Given the description of an element on the screen output the (x, y) to click on. 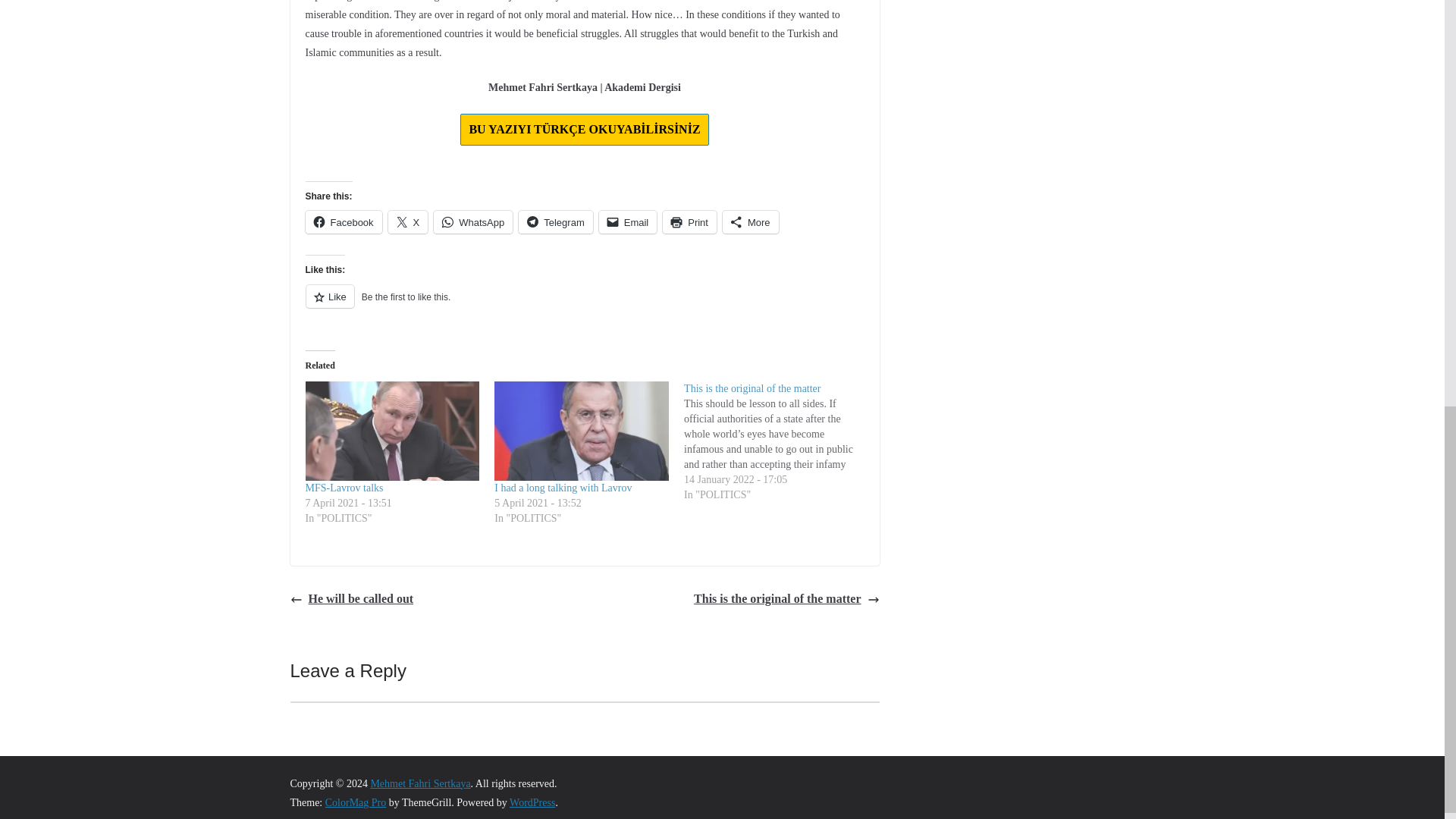
This is the original of the matter (752, 388)
MFS-Lavrov talks (343, 487)
Click to email a link to a friend (628, 221)
Click to print (689, 221)
WhatsApp (472, 221)
Print (689, 221)
Click to share on WhatsApp (472, 221)
Click to share on Telegram (555, 221)
Facebook (342, 221)
Email (628, 221)
I had a long talking with Lavrov (563, 487)
X (408, 221)
Click to share on Facebook (342, 221)
Click to share on X (408, 221)
Telegram (555, 221)
